Given the description of an element on the screen output the (x, y) to click on. 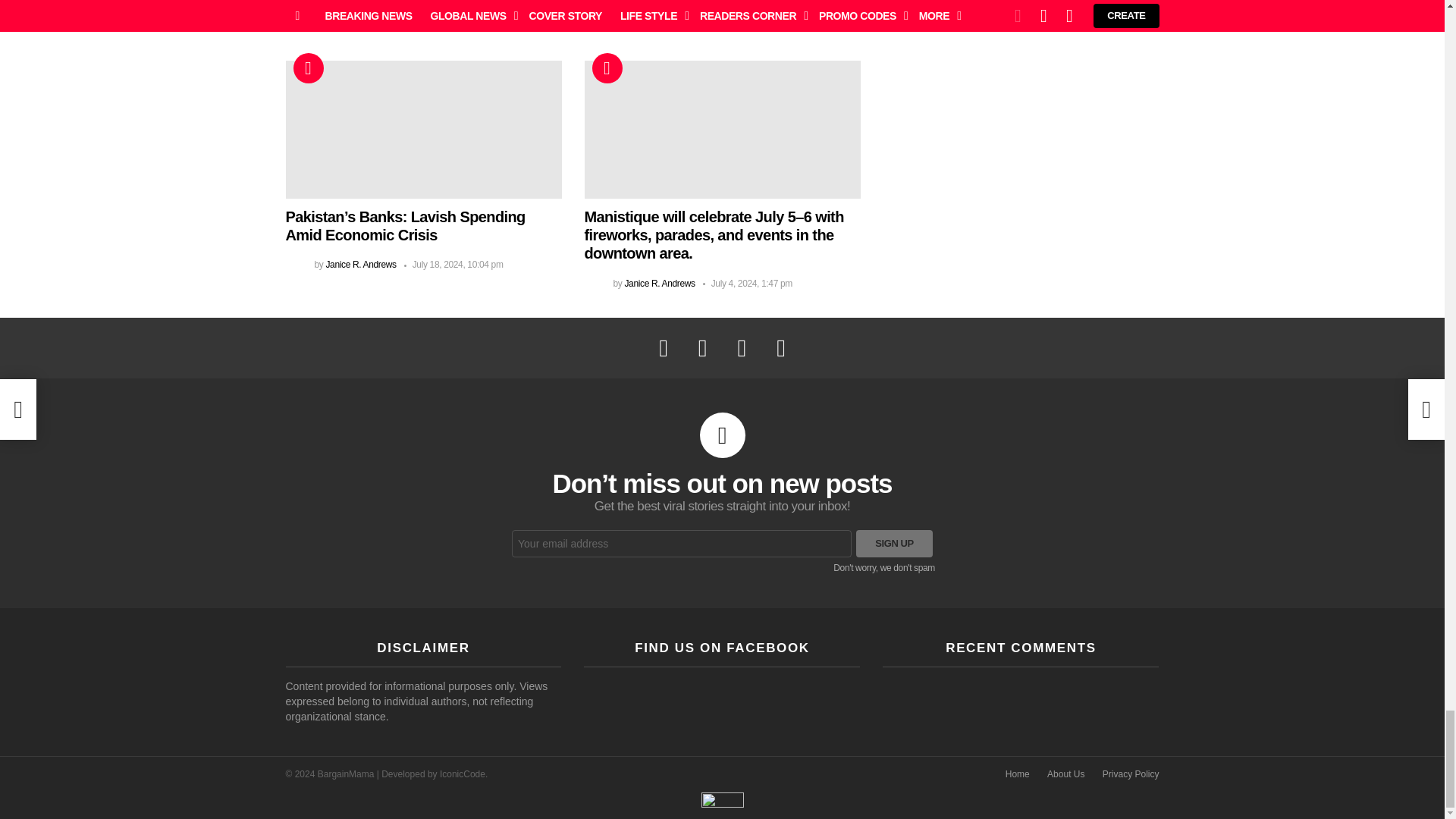
Sign up (894, 543)
